Given the description of an element on the screen output the (x, y) to click on. 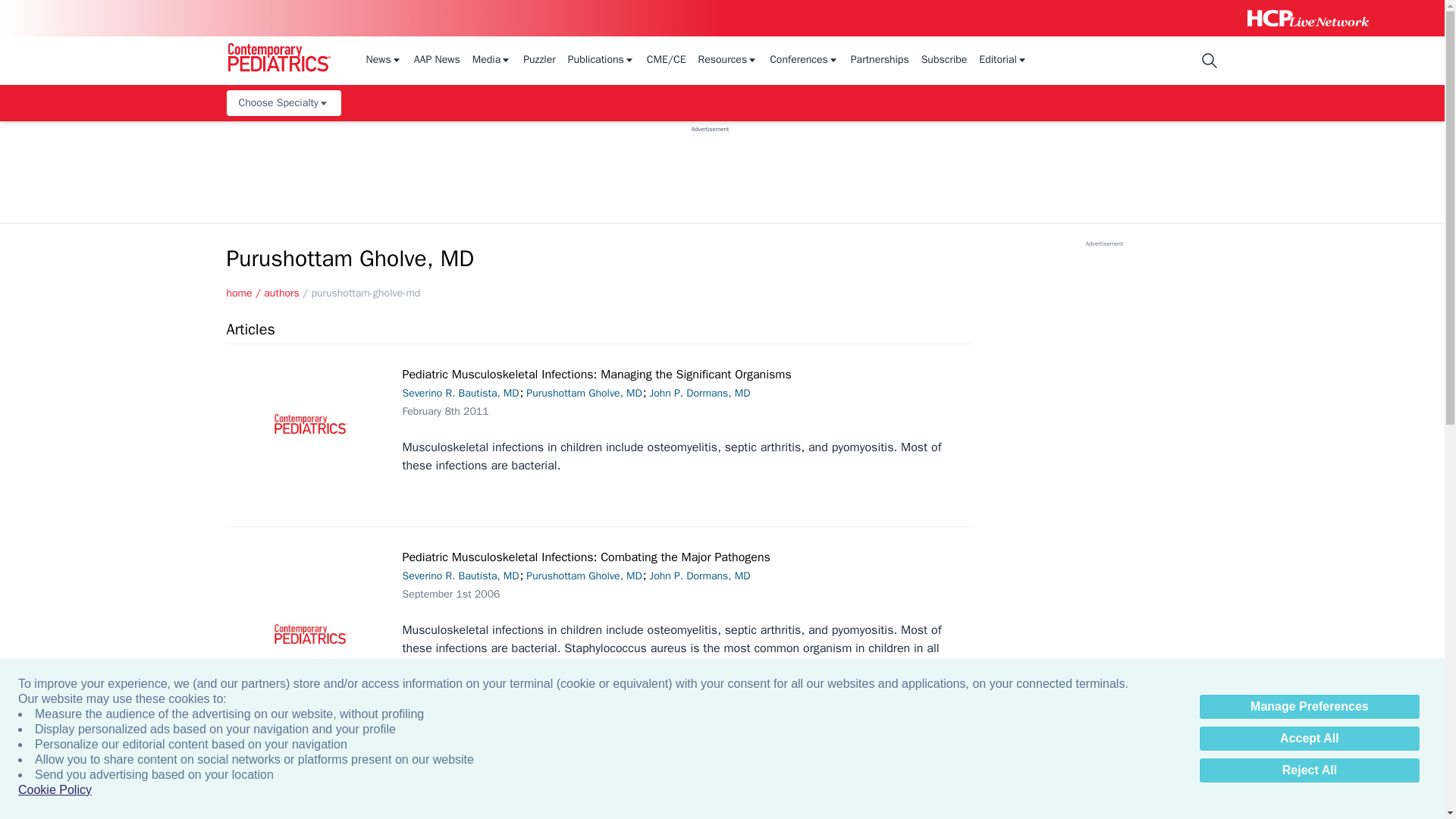
Weekly Review (1023, 758)
Reject All (1309, 769)
Manage Preferences (1309, 706)
Accept All (1309, 738)
3rd party ad content (710, 167)
Media (491, 60)
Cookie Policy (54, 789)
Publications (600, 60)
News (383, 60)
AAP News (436, 60)
